Given the description of an element on the screen output the (x, y) to click on. 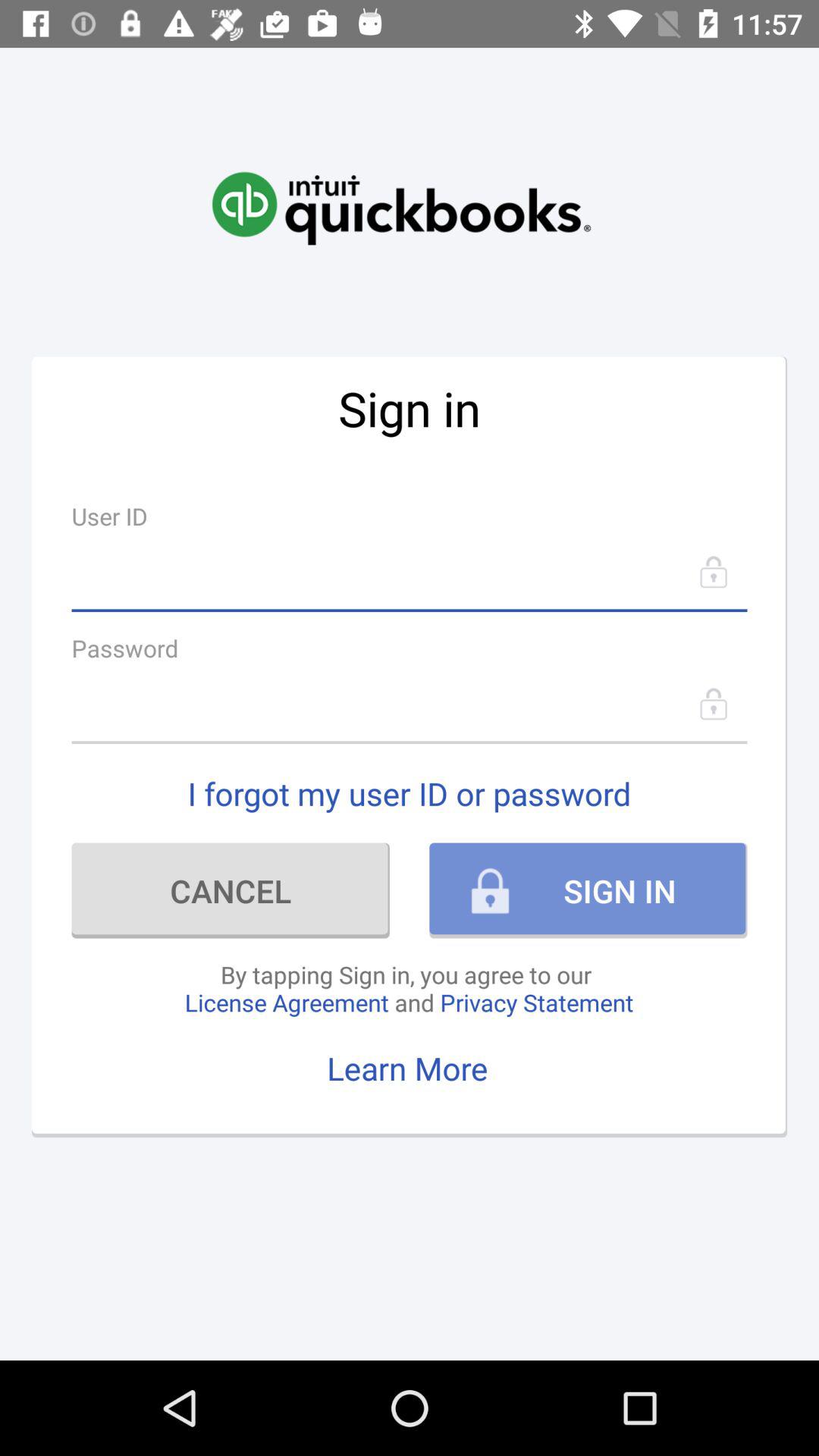
enter password (409, 703)
